Given the description of an element on the screen output the (x, y) to click on. 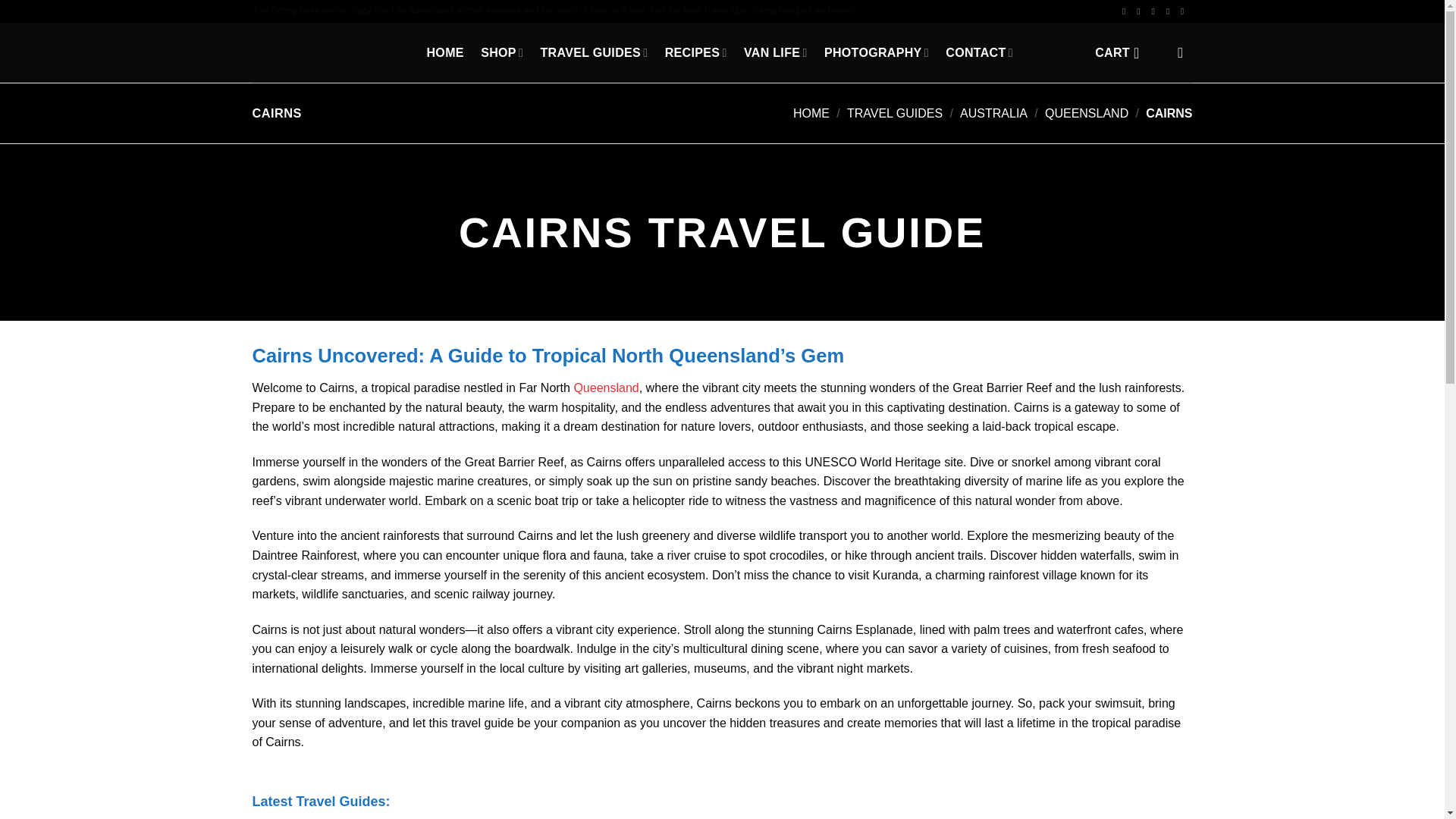
Australian Travel Guides (593, 52)
CONTACT (978, 52)
SHOP (501, 52)
BOXA Shop (501, 52)
RECIPES (695, 52)
VAN LIFE (776, 52)
TRAVEL GUIDES (593, 52)
PHOTOGRAPHY (876, 52)
